Given the description of an element on the screen output the (x, y) to click on. 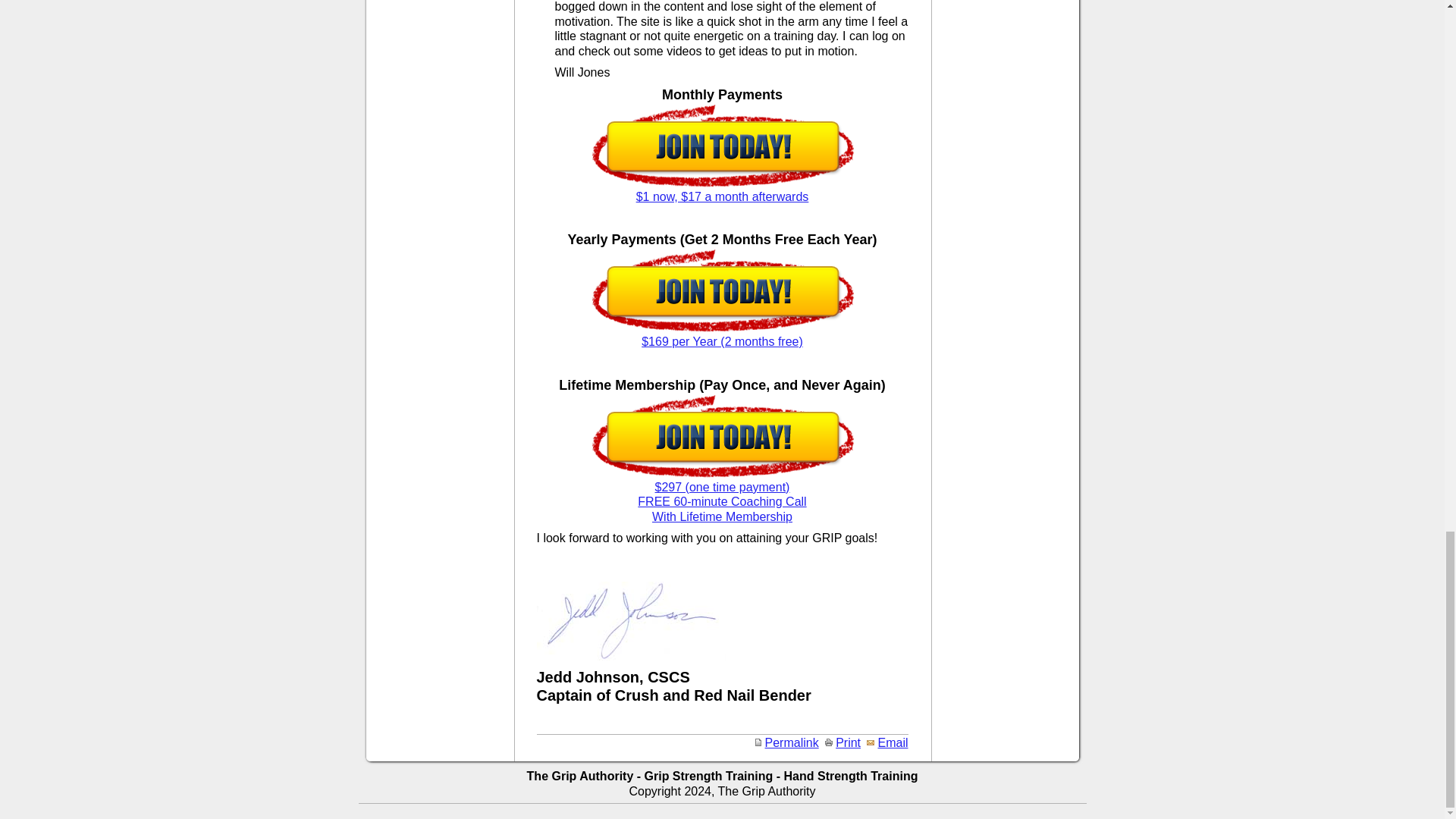
Print (842, 742)
Permalink (786, 742)
Email (886, 742)
